Given the description of an element on the screen output the (x, y) to click on. 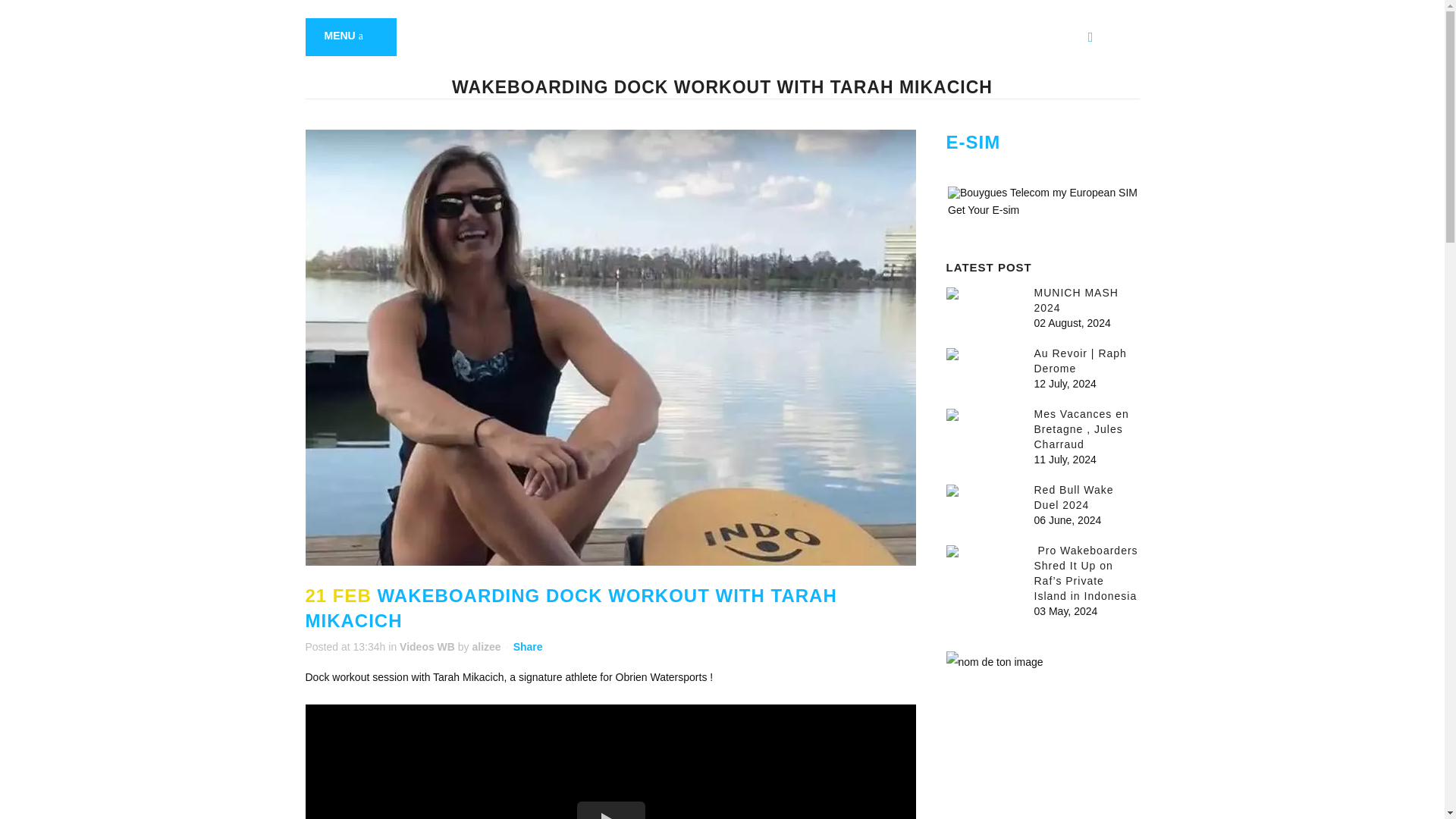
MENU (350, 37)
